Given the description of an element on the screen output the (x, y) to click on. 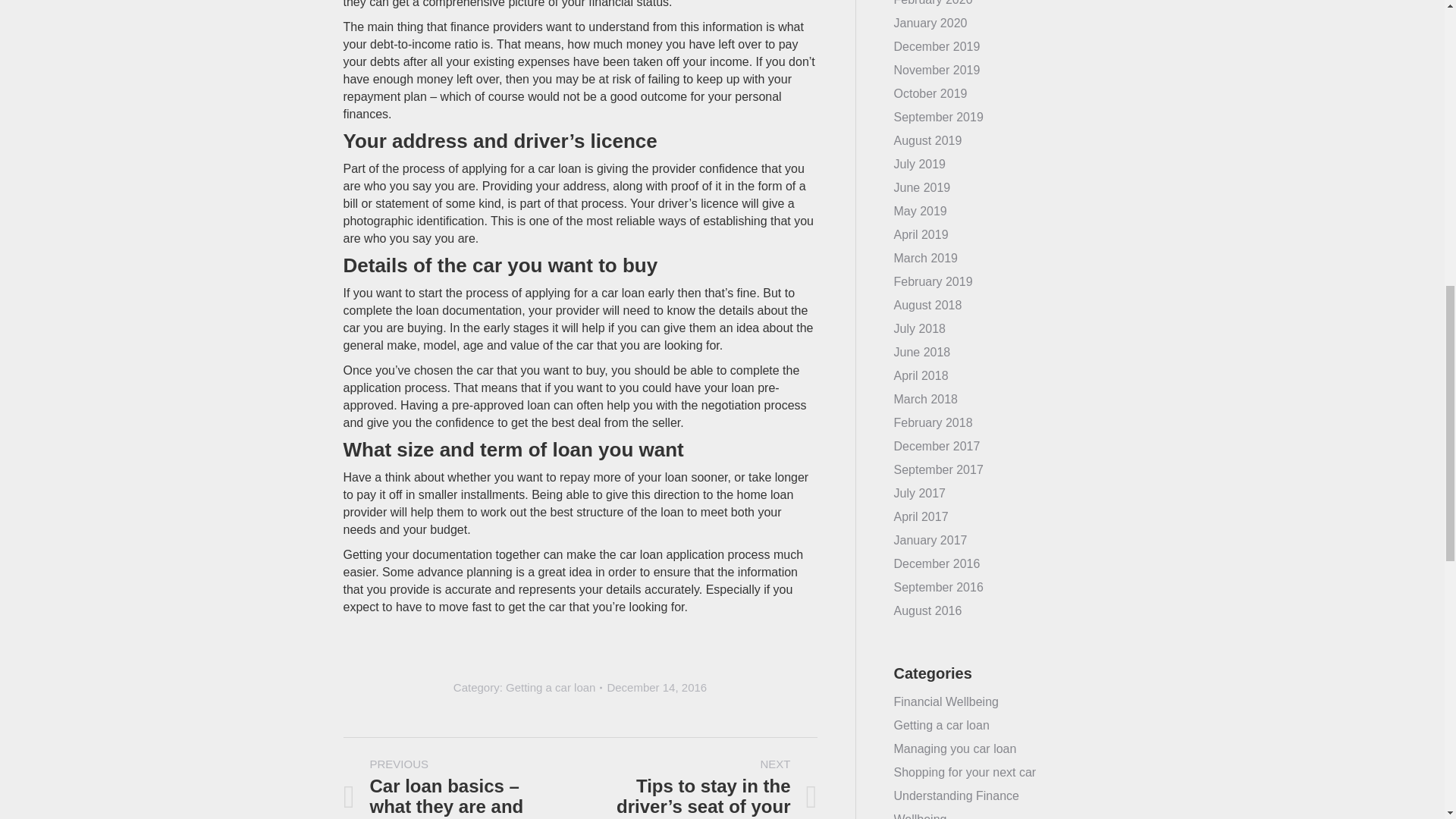
3:17 pm (656, 686)
Getting a car loan (550, 686)
December 14, 2016 (656, 686)
